Given the description of an element on the screen output the (x, y) to click on. 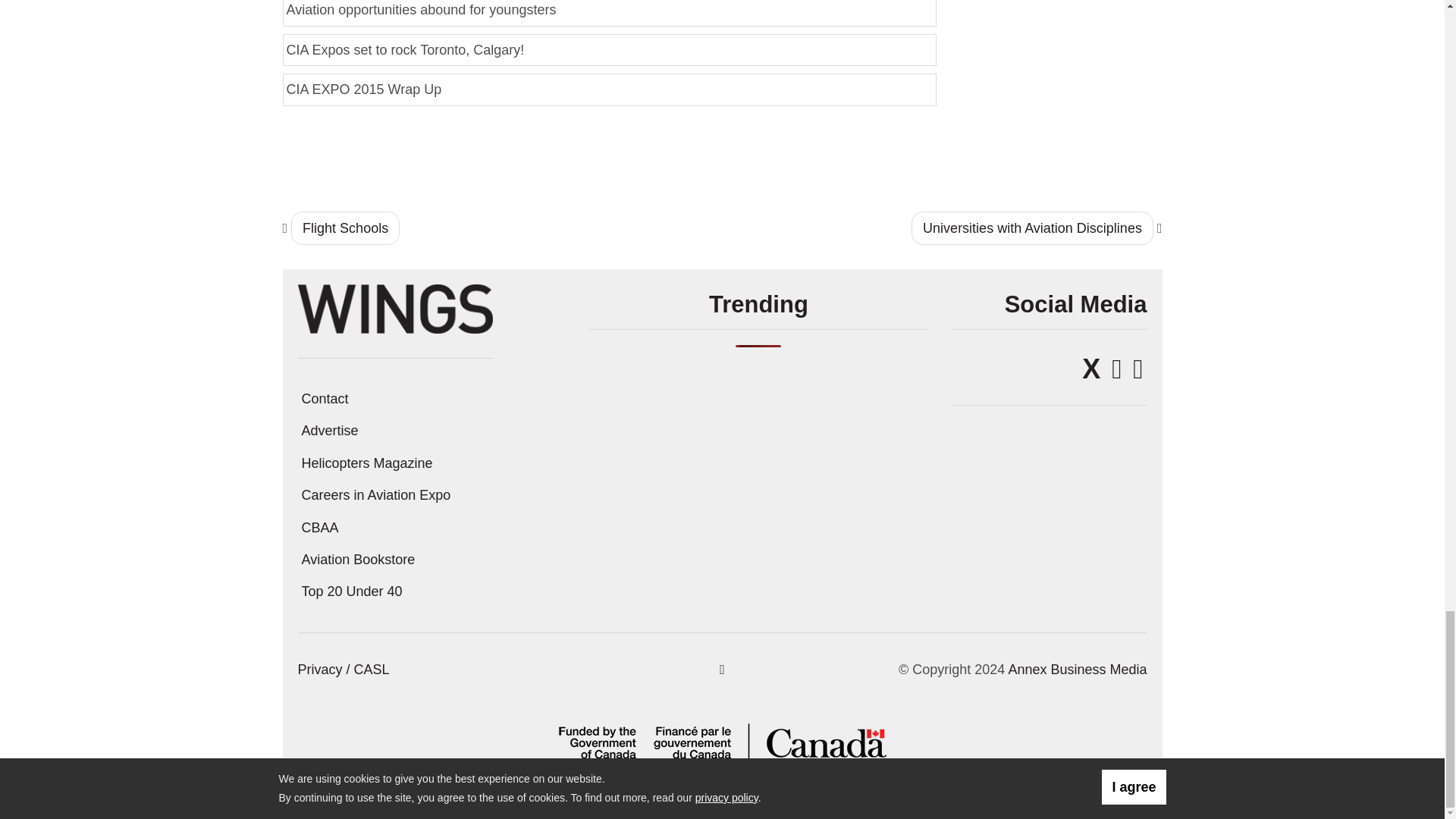
Annex Business Media (1077, 669)
Wings Magazine (395, 307)
